Given the description of an element on the screen output the (x, y) to click on. 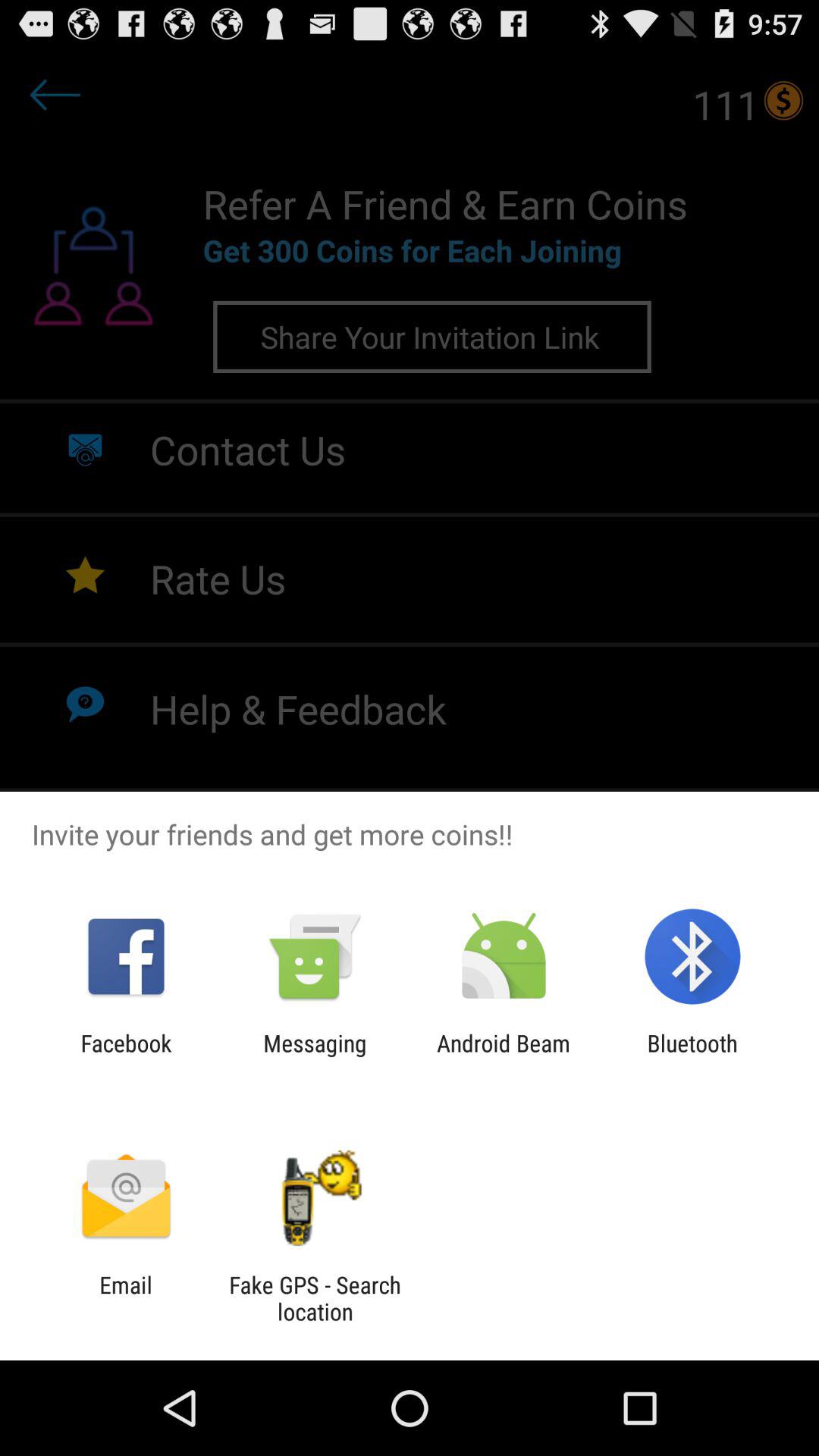
choose facebook (125, 1056)
